Given the description of an element on the screen output the (x, y) to click on. 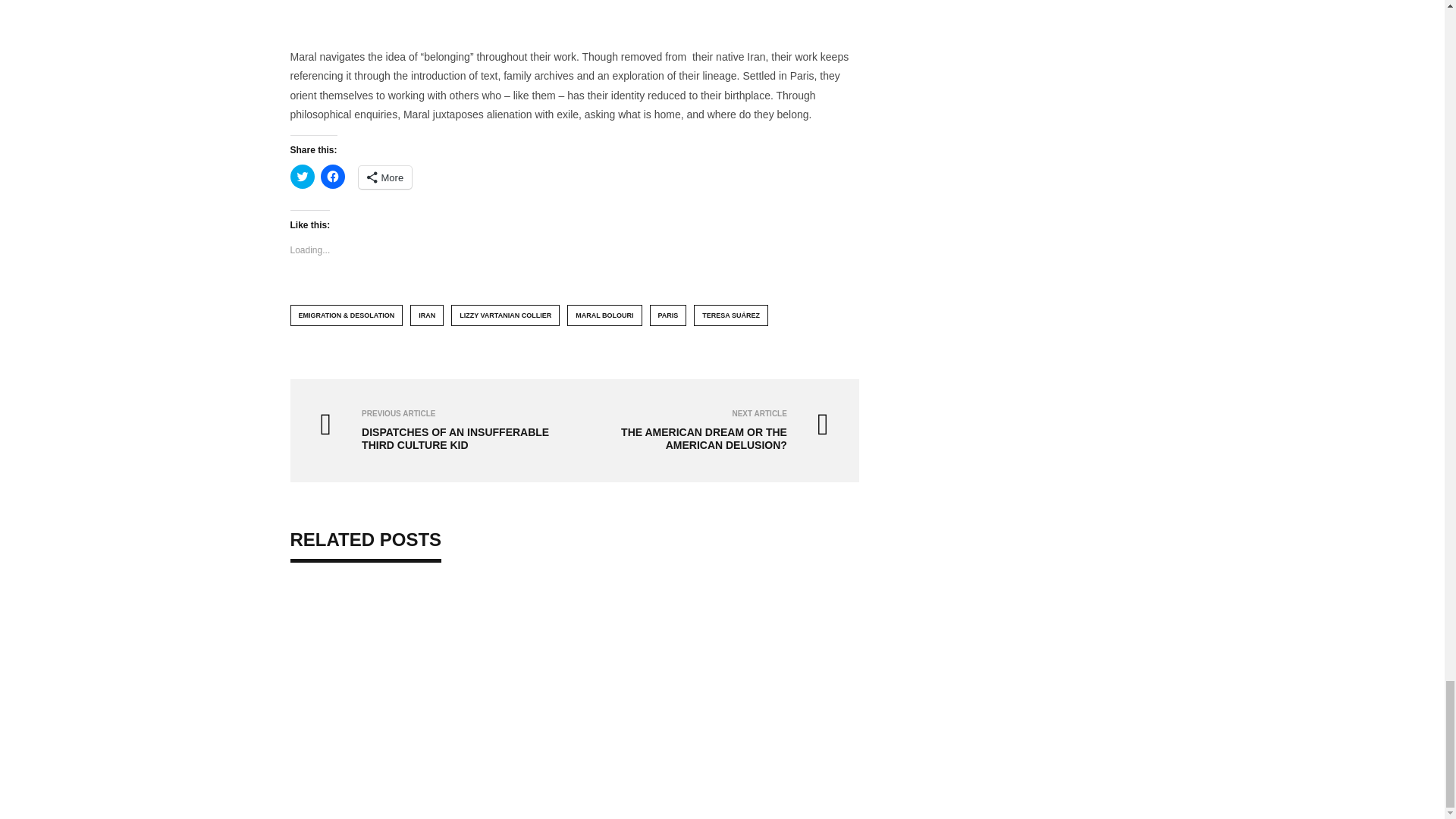
Click to share on Facebook (331, 176)
Click to share on Twitter (301, 176)
